Given the description of an element on the screen output the (x, y) to click on. 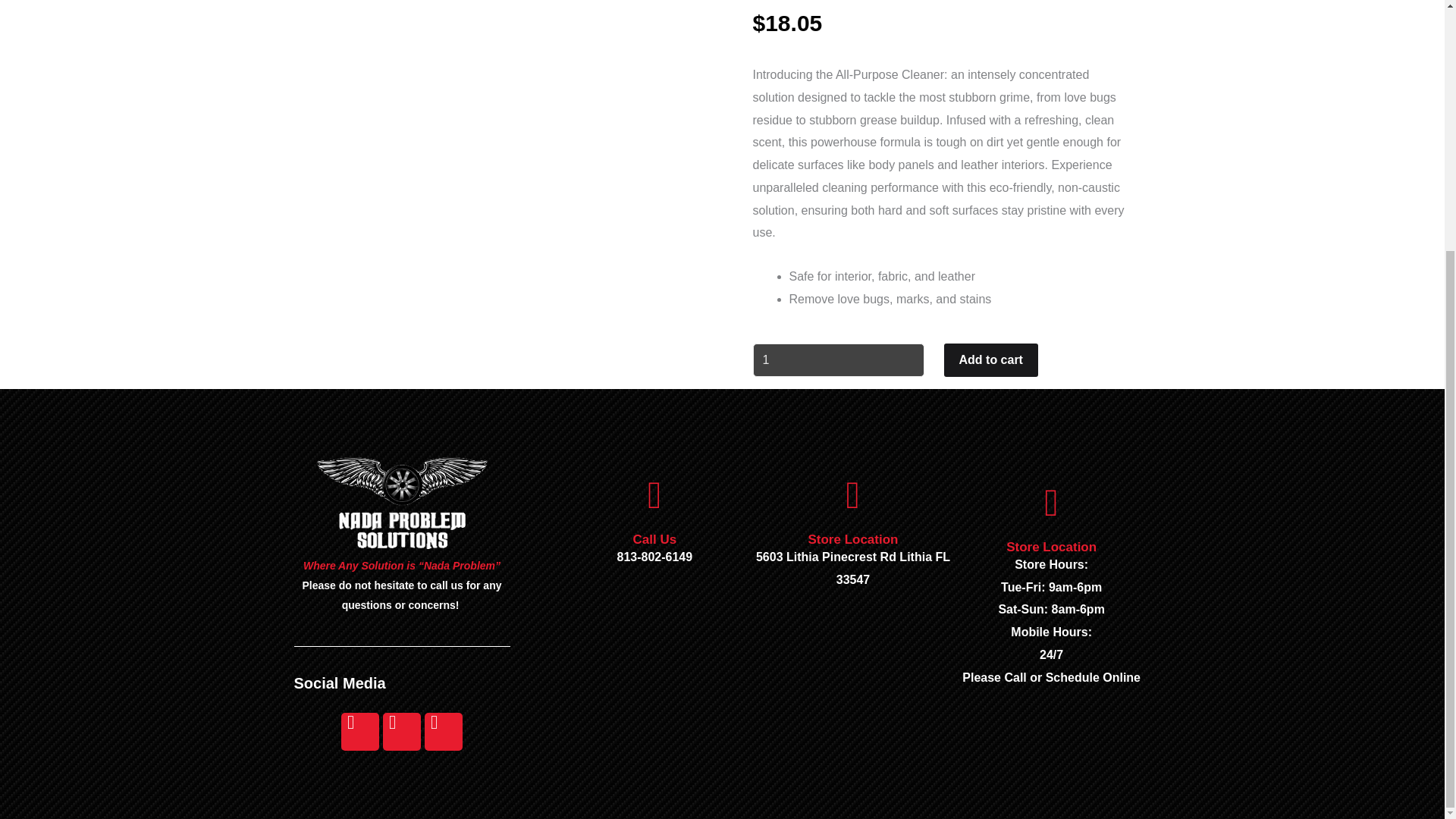
Google (444, 731)
Add to cart (989, 359)
Instagram (401, 731)
Call Us (654, 539)
1 (837, 359)
Store Location (853, 539)
Facebook (359, 731)
